Given the description of an element on the screen output the (x, y) to click on. 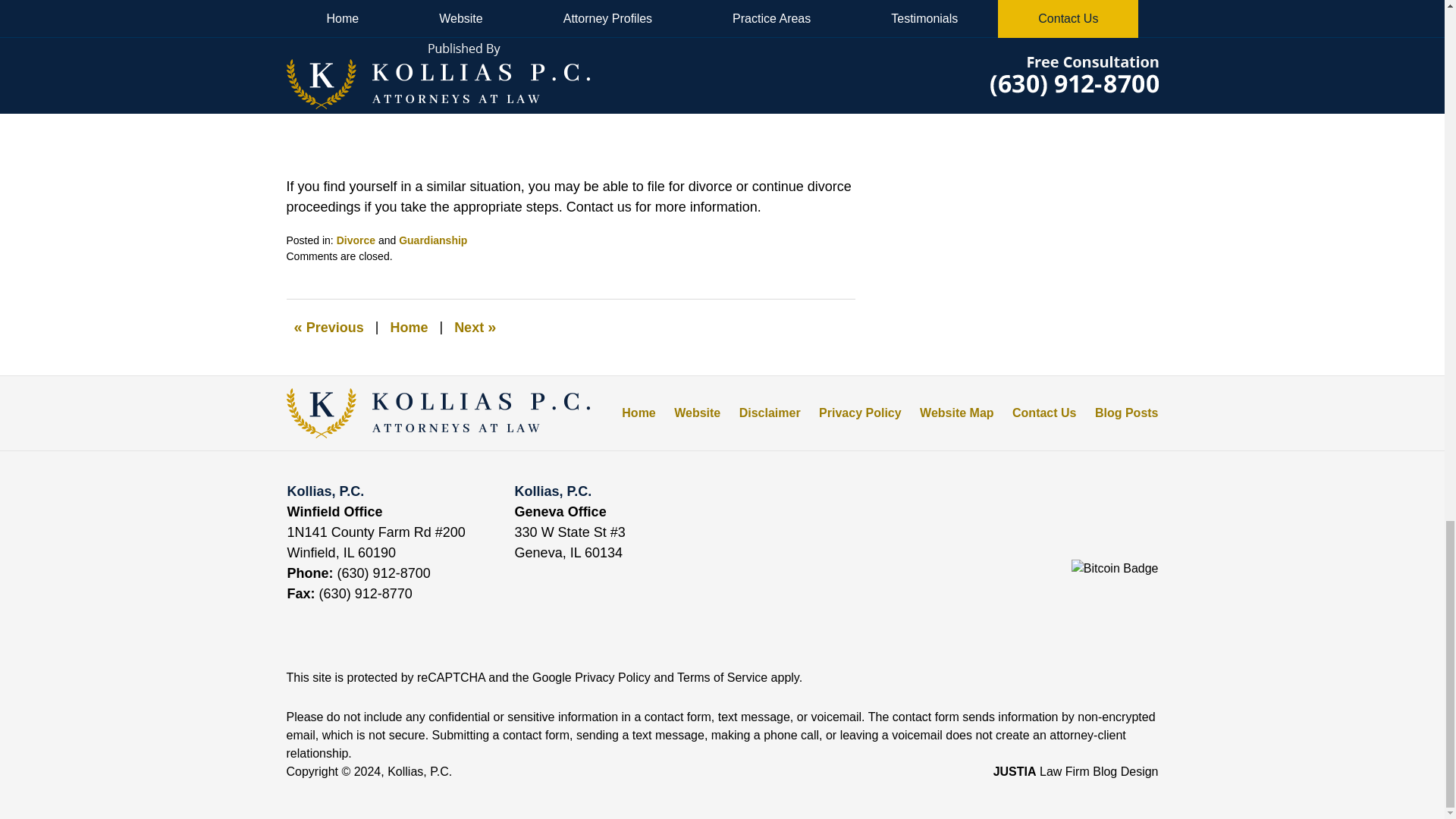
View all posts in Guardianship (432, 240)
Divorce (355, 240)
Home (408, 327)
Guardianship (432, 240)
Child Custody and Equitable Adoption in Illinois (474, 327)
View all posts in Divorce (355, 240)
